Given the description of an element on the screen output the (x, y) to click on. 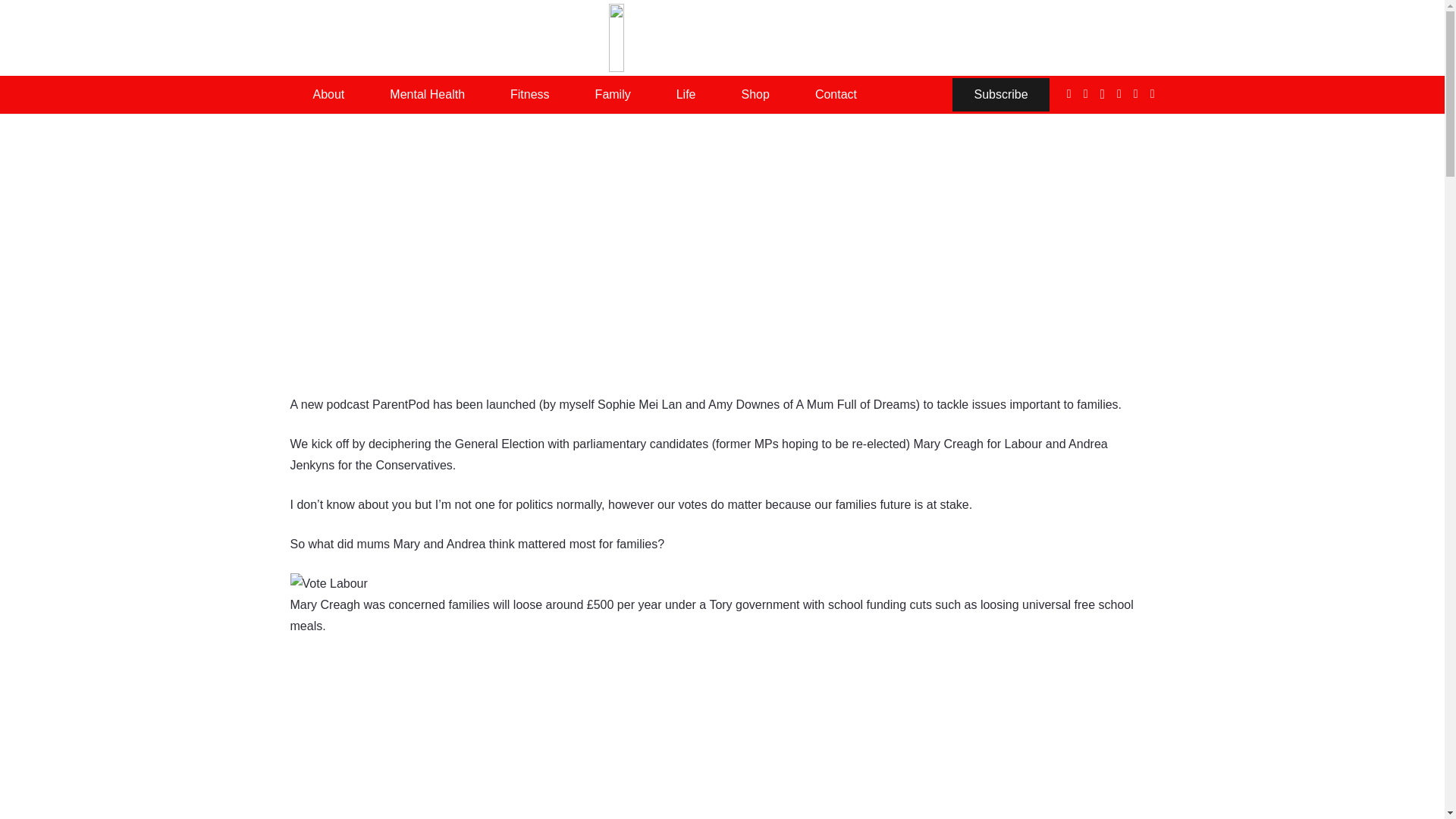
Shop (755, 94)
No Comments (756, 286)
Sophie Mei Lan (444, 286)
Mental Health (426, 94)
Contact (835, 94)
About (327, 94)
Subscribe (1000, 94)
Fitness (529, 94)
No Comments (756, 286)
Life (686, 94)
Family (612, 94)
